Given the description of an element on the screen output the (x, y) to click on. 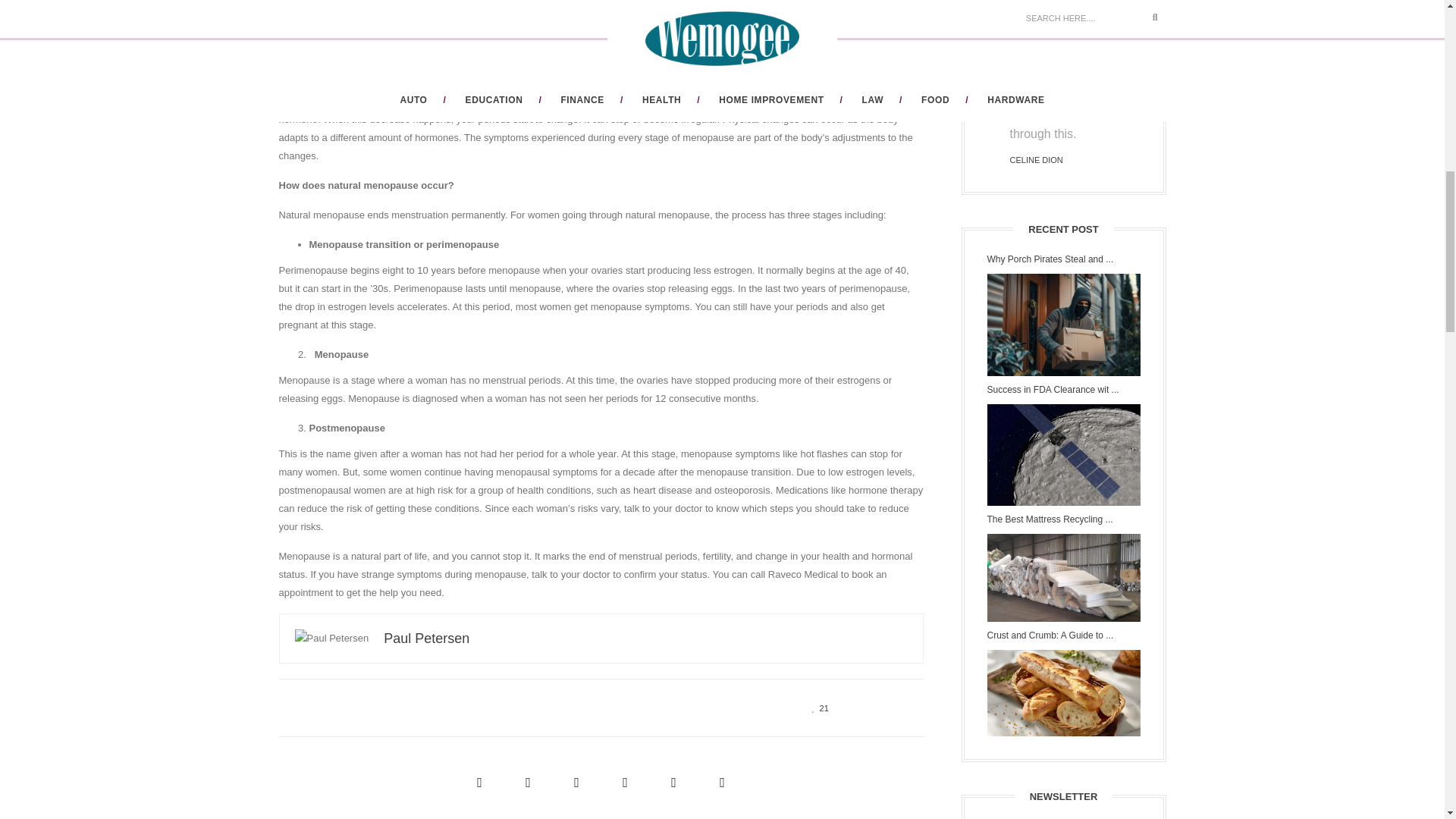
Success in FDA Clearance wit ... (1063, 390)
Paul Petersen (426, 638)
21 (815, 706)
Why Porch Pirates Steal and ... (1063, 259)
The Best Mattress Recycling ... (1063, 519)
Like (815, 706)
